Given the description of an element on the screen output the (x, y) to click on. 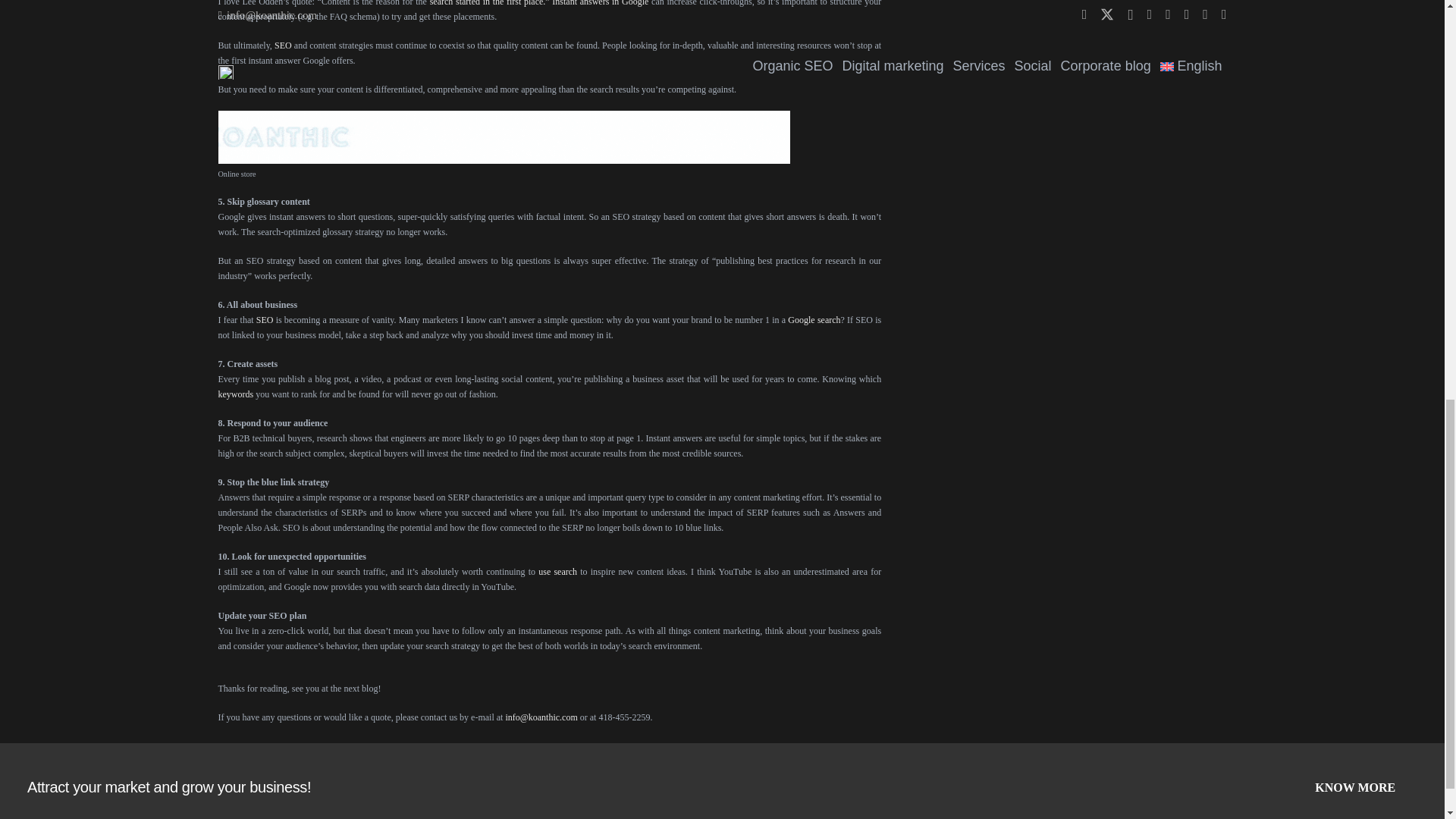
keywords (235, 394)
SEO (264, 319)
SEO (283, 45)
use search (557, 571)
Google search (813, 319)
